Given the description of an element on the screen output the (x, y) to click on. 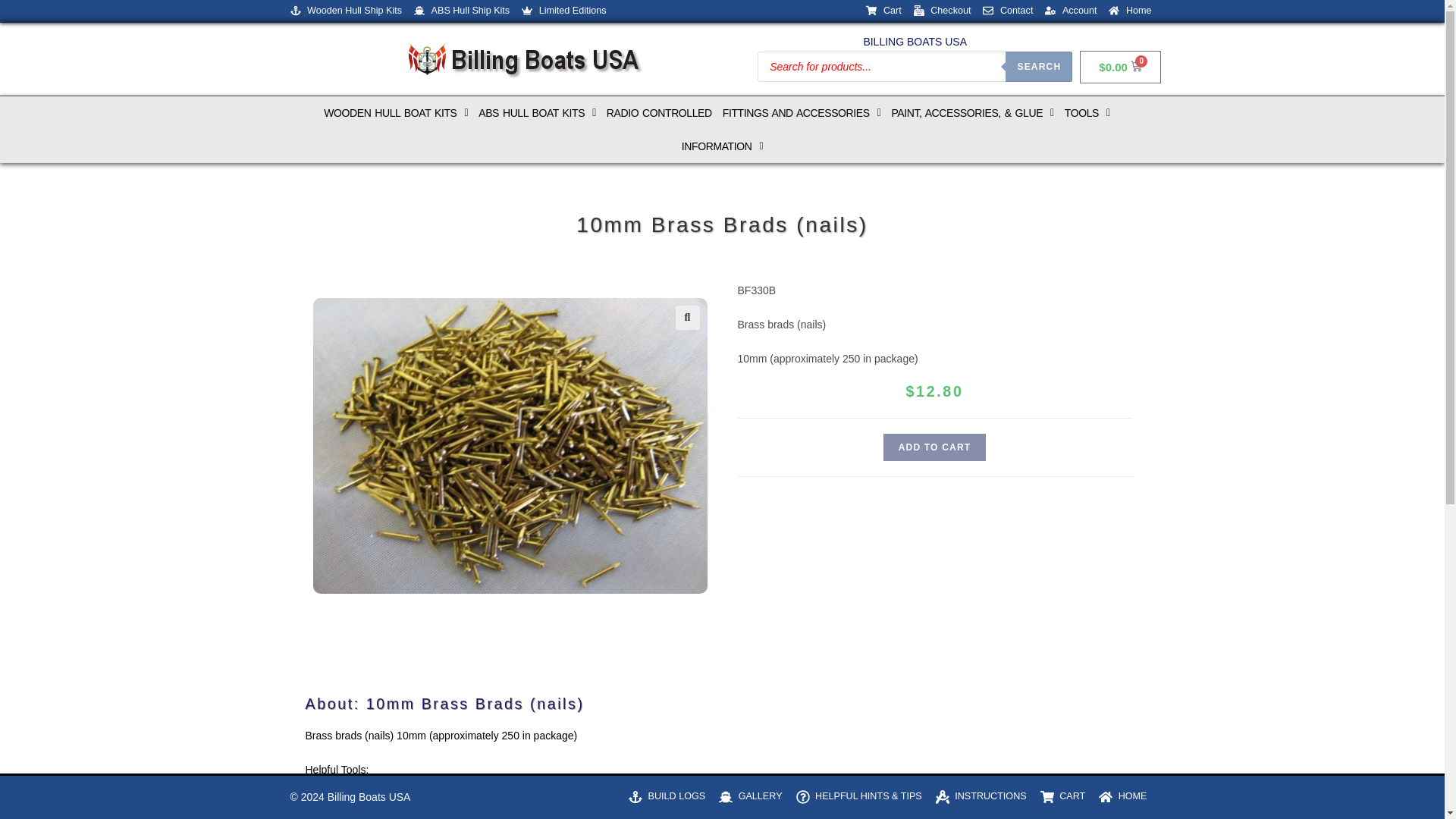
Contact (1007, 10)
Cart (883, 10)
SEARCH (1038, 66)
Radio Controlled Model Boat Kits (659, 112)
Account (1070, 10)
FITTINGS AND ACCESSORIES (801, 112)
Checkout (942, 10)
ABS Hull Ship Kits (461, 10)
RADIO CONTROLLED (659, 112)
WOODEN HULL BOAT KITS (395, 112)
Limited Editions (563, 10)
ABS HULL BOAT KITS (537, 112)
Home (1129, 10)
Wooden Hull Ship Kits (345, 10)
